Given the description of an element on the screen output the (x, y) to click on. 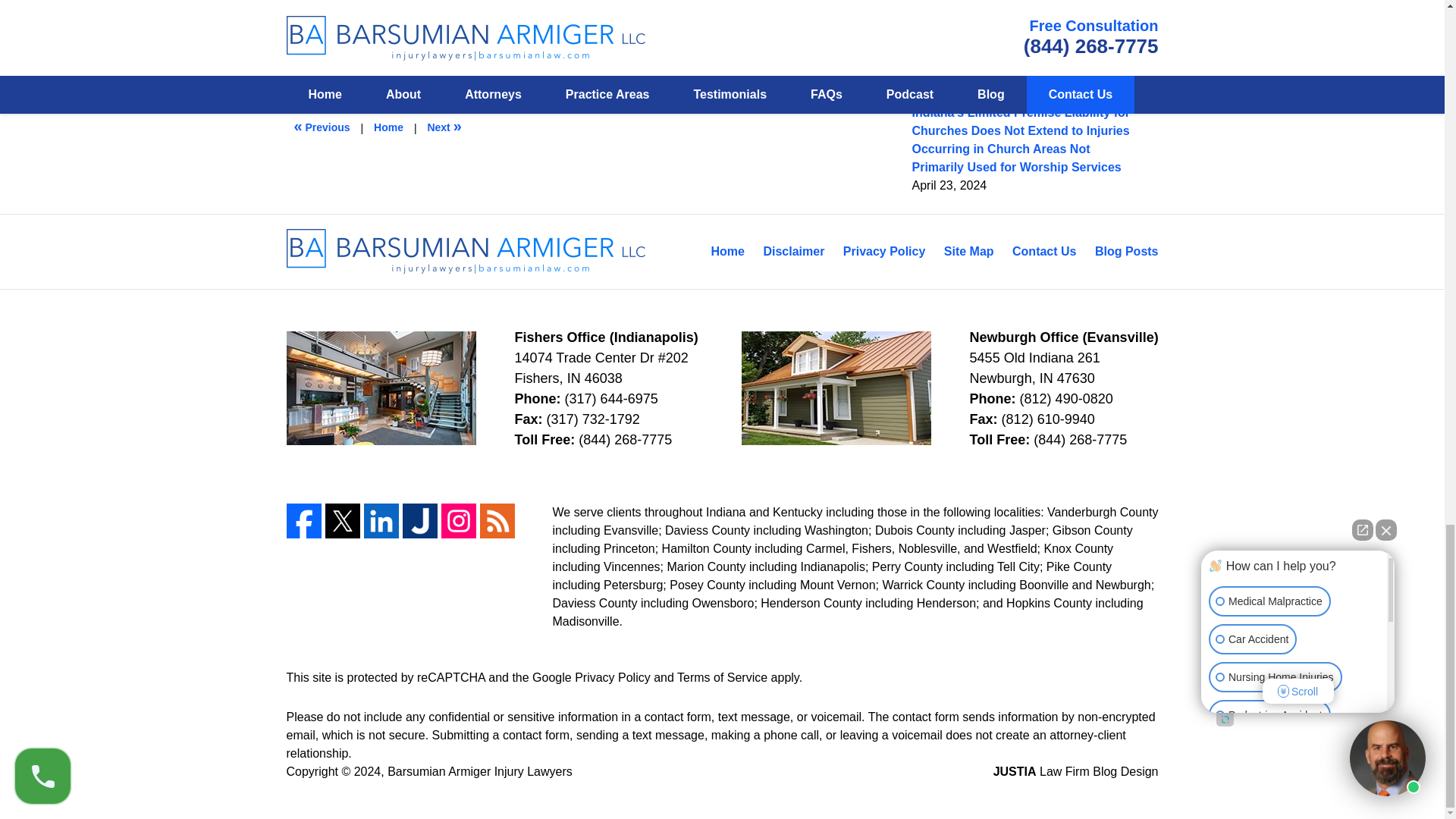
Facebook (303, 520)
Justia (418, 520)
Instagram (458, 520)
View all posts in Medical Malpractice (386, 41)
Twitter (341, 520)
Punitive Damages in Indiana (443, 127)
Feed (496, 520)
LinkedIn (381, 520)
